Given the description of an element on the screen output the (x, y) to click on. 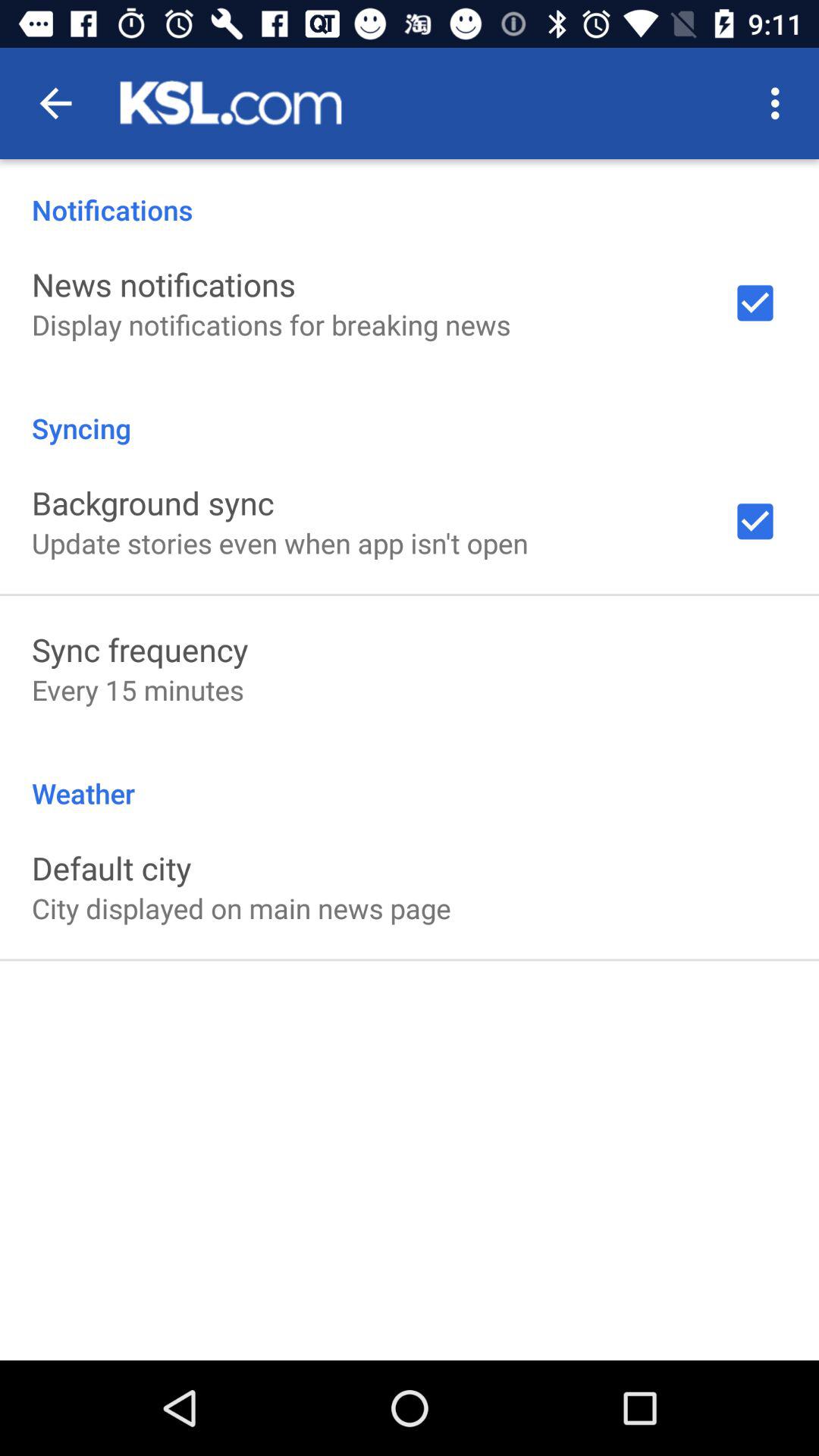
turn off the app above weather item (137, 689)
